Given the description of an element on the screen output the (x, y) to click on. 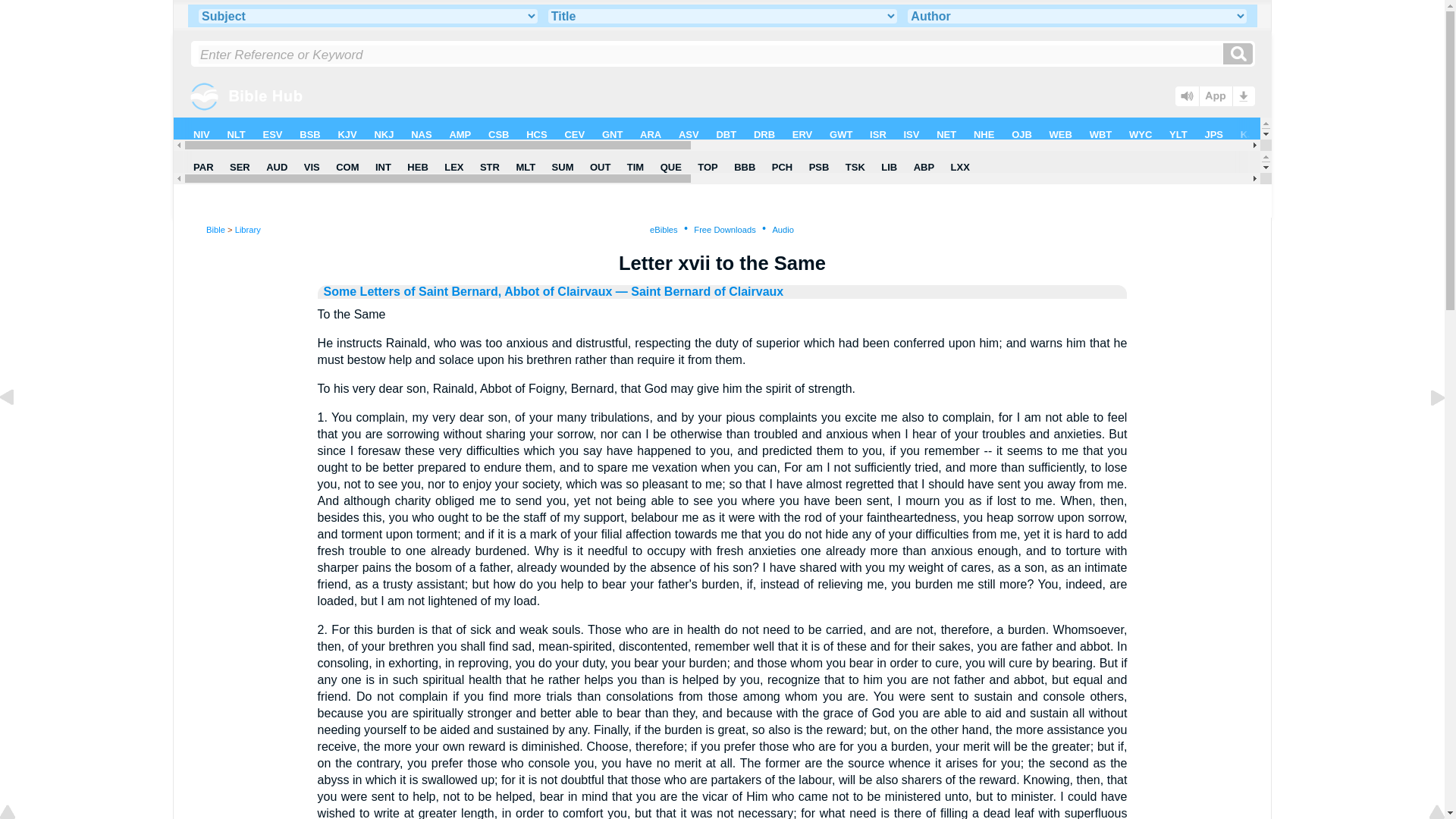
Some Letters of Saint Bernard, Abbot of Clairvaux (467, 291)
Top of Page (18, 813)
Library (247, 229)
Bible (215, 229)
letter xvi to rainald abbot (18, 431)
